Given the description of an element on the screen output the (x, y) to click on. 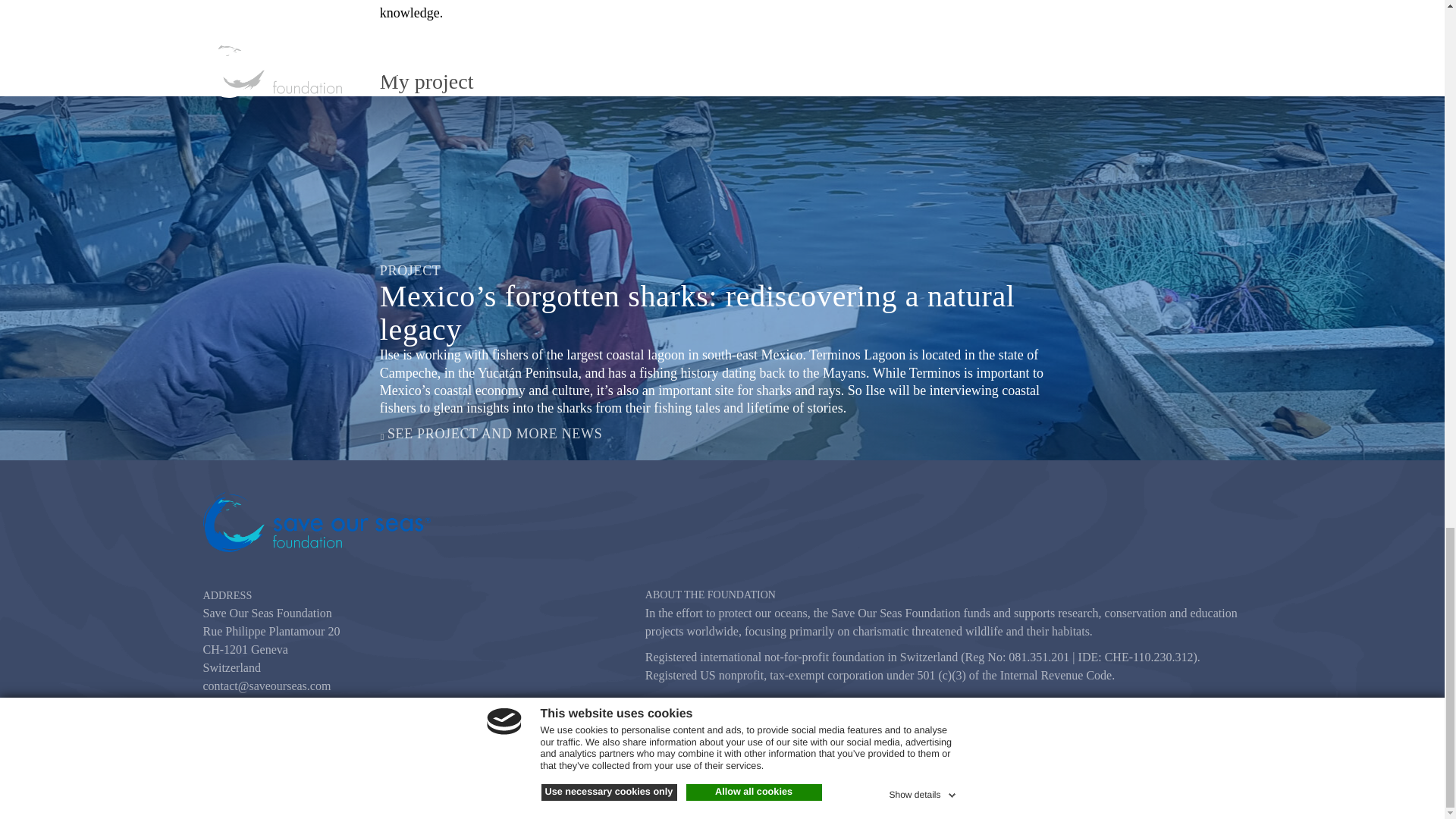
Subscribe to the Newsletter (949, 726)
